Given the description of an element on the screen output the (x, y) to click on. 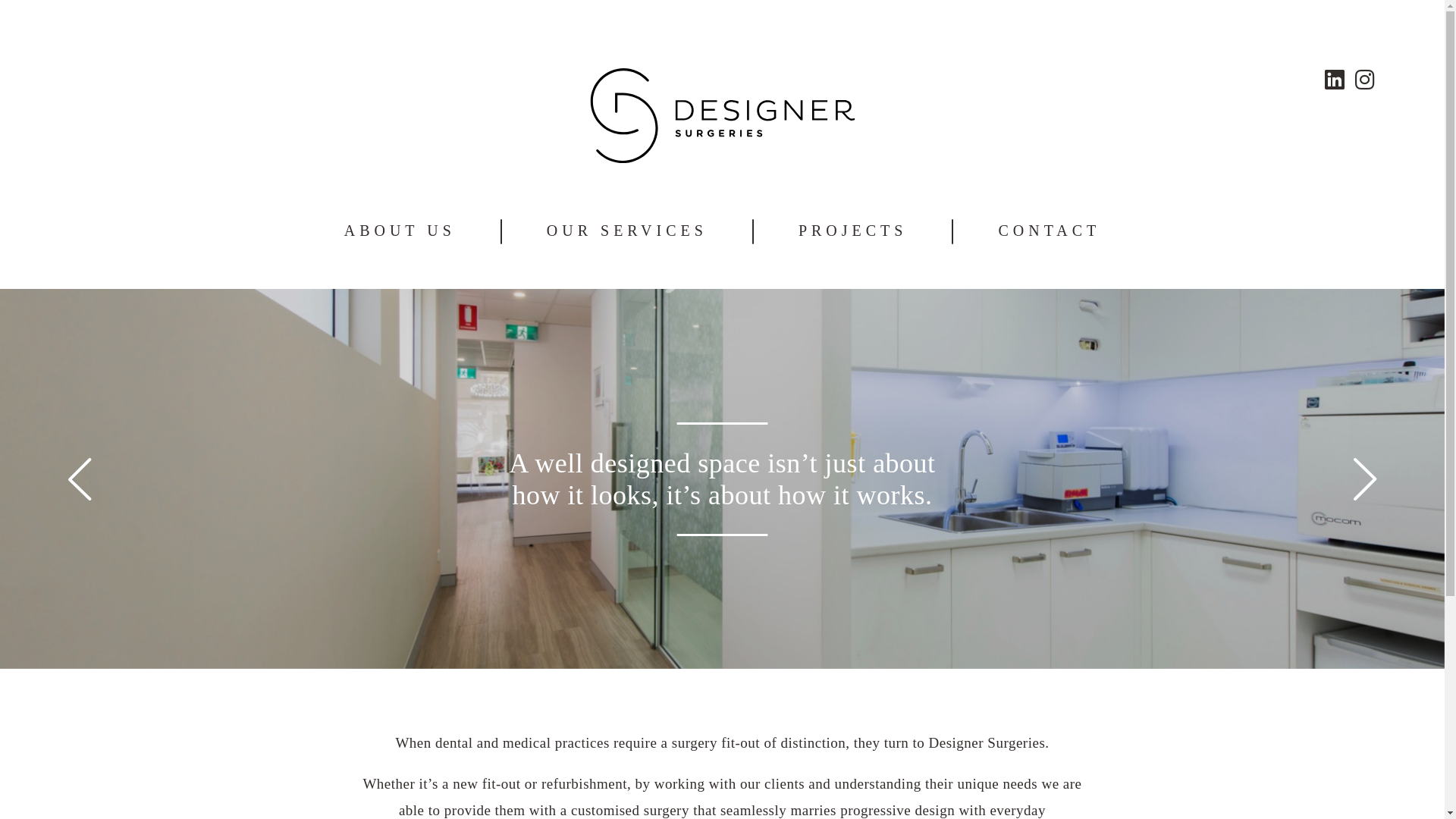
OUR SERVICES Element type: text (626, 230)
ABOUT US Element type: text (399, 230)
Follow us on linkedin! Element type: hover (1334, 79)
Follow us on instagram! Element type: hover (1364, 79)
Back to Designers Surgeries home page! Element type: hover (721, 158)
CONTACT Element type: text (1048, 230)
PROJECTS Element type: text (852, 230)
